Given the description of an element on the screen output the (x, y) to click on. 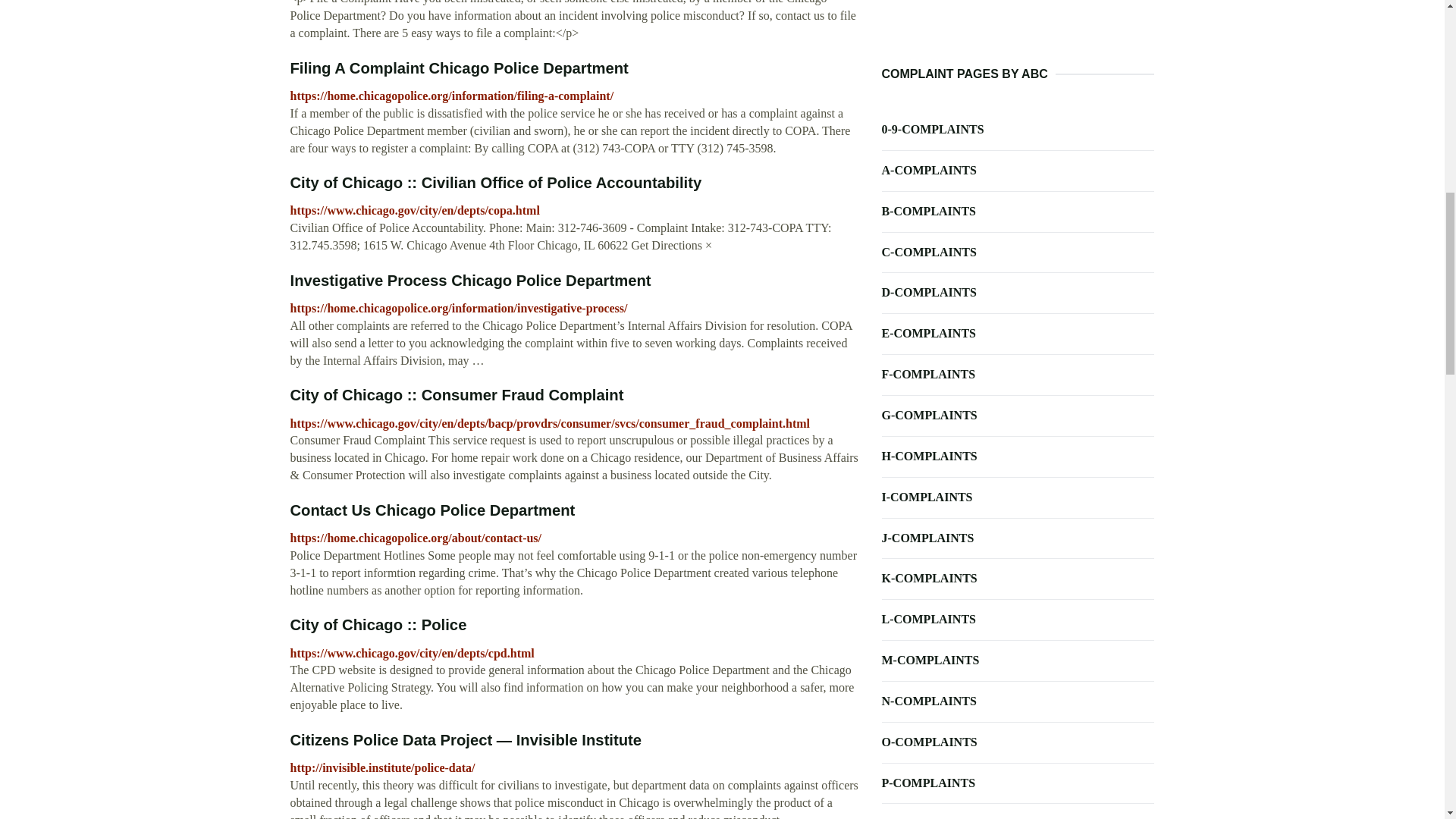
Filing A Complaint Chicago Police Department (458, 67)
City of Chicago :: Police (377, 624)
Contact Us Chicago Police Department (432, 510)
Advertisement (1017, 33)
City of Chicago :: Civilian Office of Police Accountability (495, 182)
Investigative Process Chicago Police Department (469, 280)
City of Chicago :: Consumer Fraud Complaint (456, 394)
